Given the description of an element on the screen output the (x, y) to click on. 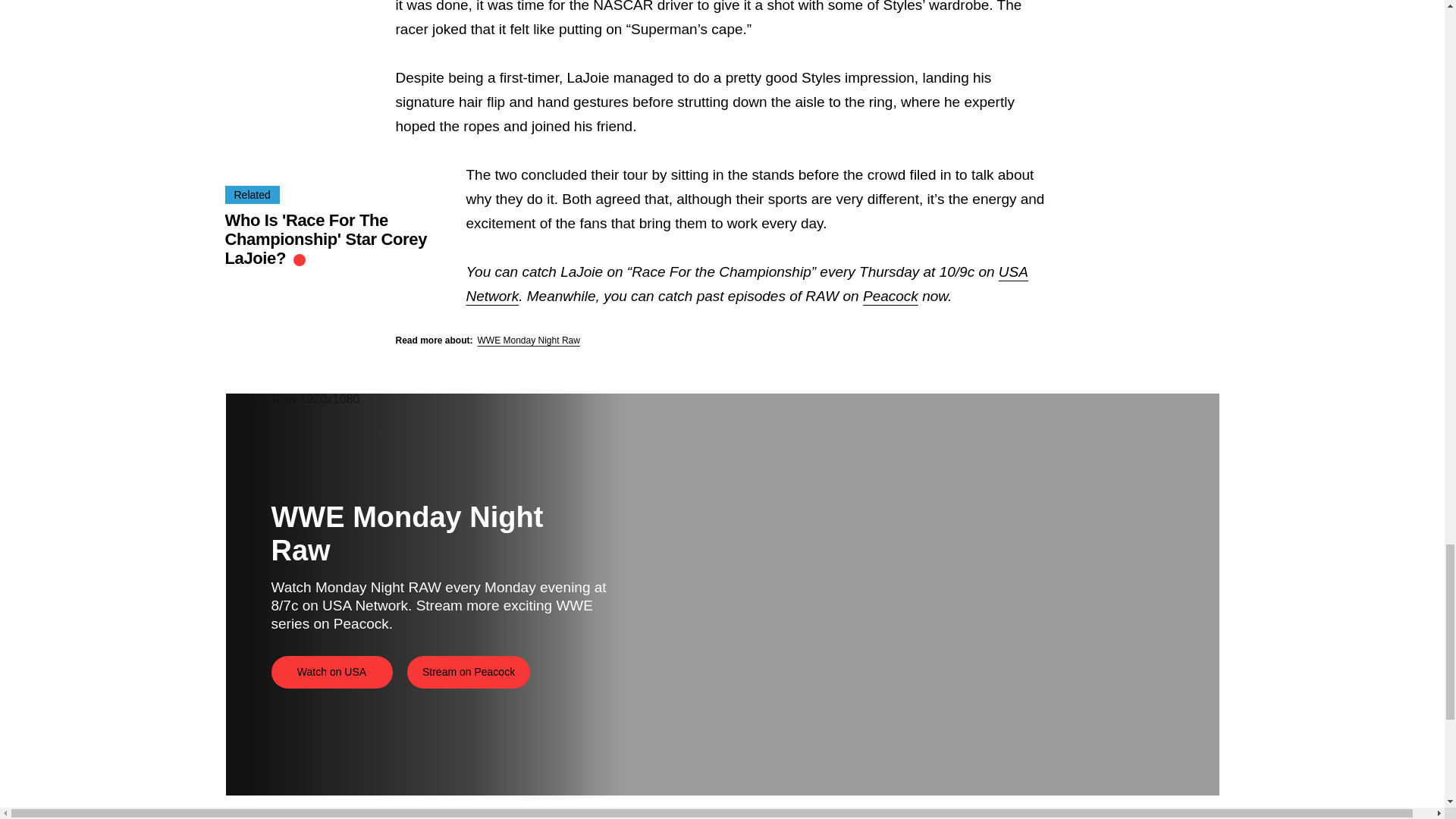
WWE Monday Night Raw (528, 339)
Watch on USA (331, 672)
Peacock (890, 295)
USA Network (746, 283)
